Given the description of an element on the screen output the (x, y) to click on. 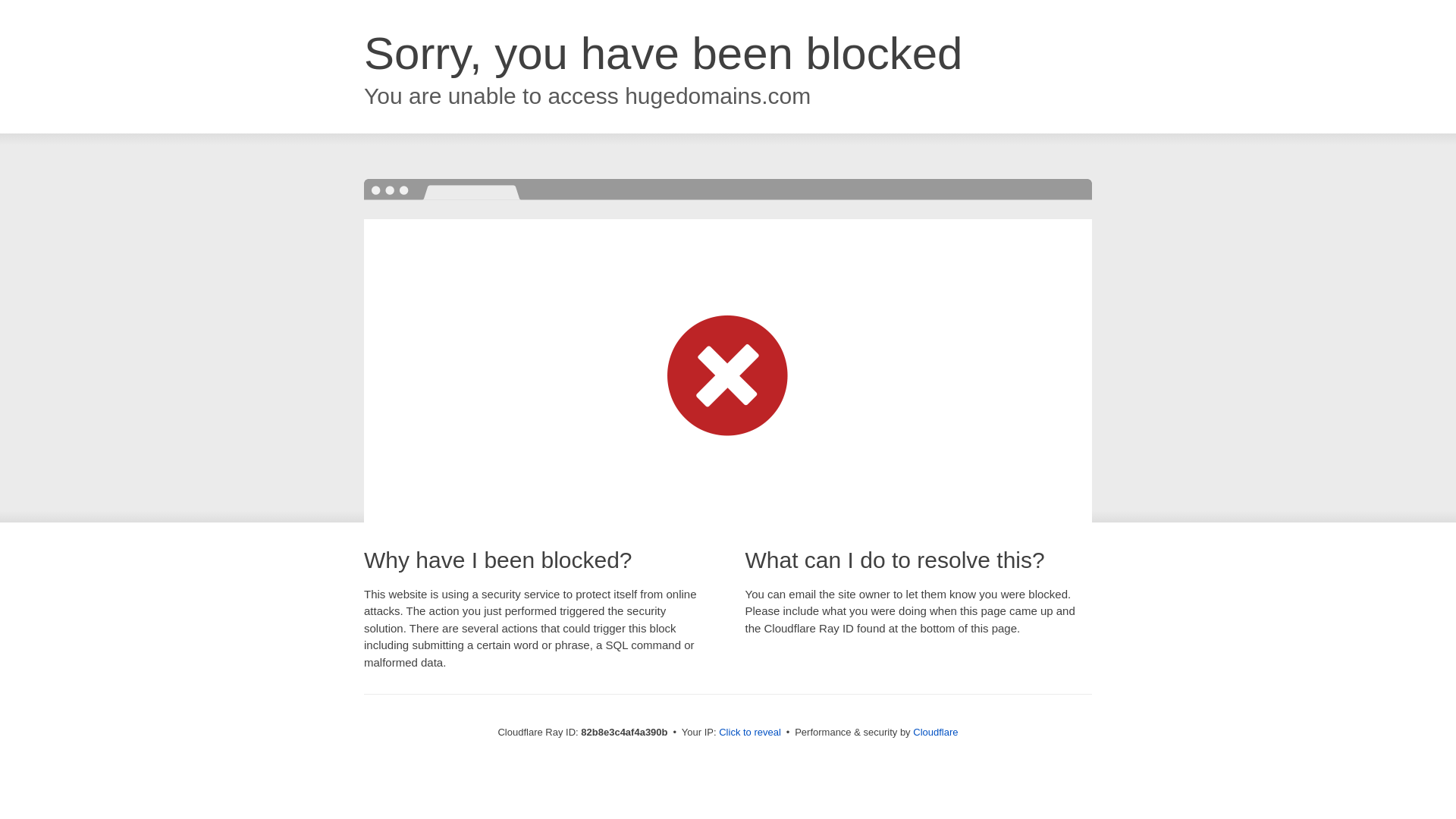
Cloudflare Element type: text (935, 731)
Click to reveal Element type: text (749, 732)
